Given the description of an element on the screen output the (x, y) to click on. 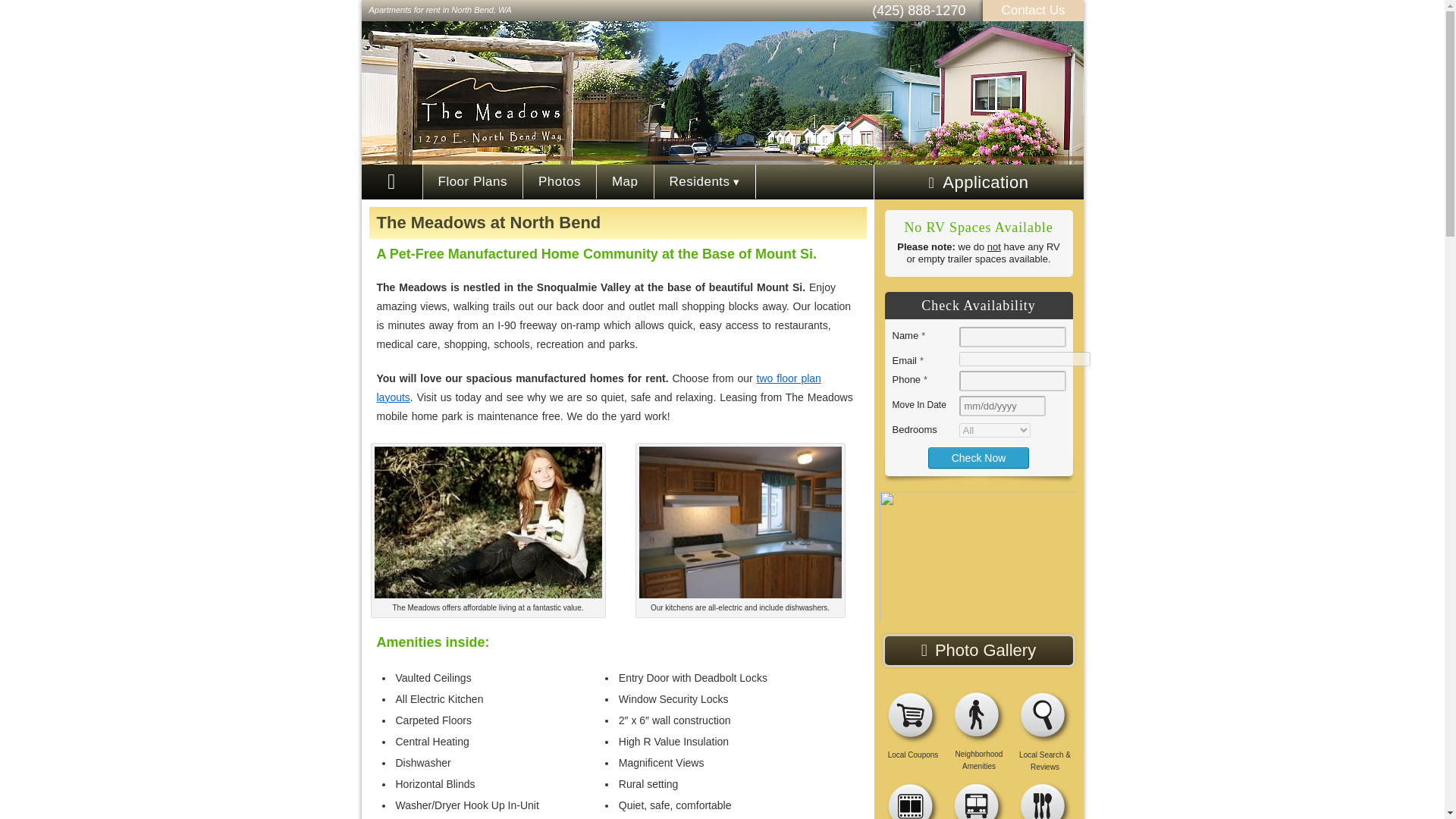
Check Now (978, 457)
Check Now (978, 457)
Photos (559, 181)
Home (391, 181)
Permanent Link to The Meadows at North Bend (487, 221)
Application (978, 181)
Floor Plans (472, 181)
Our kitchens are all-electric and include dishwashers. (740, 522)
two floor plan layouts (598, 387)
Photo Gallery (978, 650)
The Meadows at North Bend (487, 221)
The Meadows offers affordable living at a fantastic value. (488, 522)
Residents (704, 181)
Contact Us (1032, 10)
Local Coupons (912, 748)
